Given the description of an element on the screen output the (x, y) to click on. 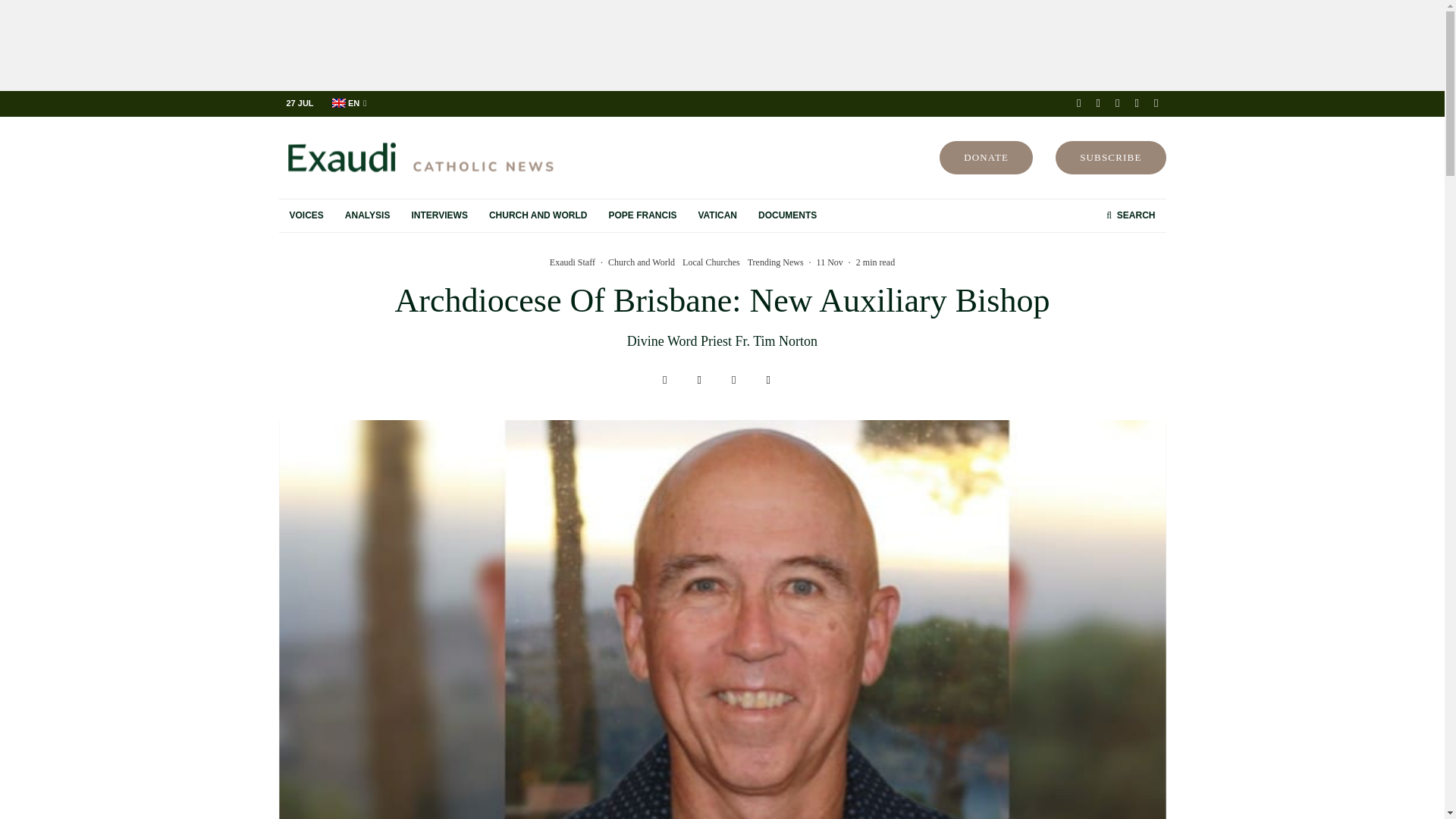
SUBSCRIBE (1110, 157)
Advertisement (721, 45)
INTERVIEWS (438, 215)
ANALYSIS (367, 215)
EN (349, 103)
VOICES (306, 215)
DONATE (985, 157)
EN (349, 103)
